Given the description of an element on the screen output the (x, y) to click on. 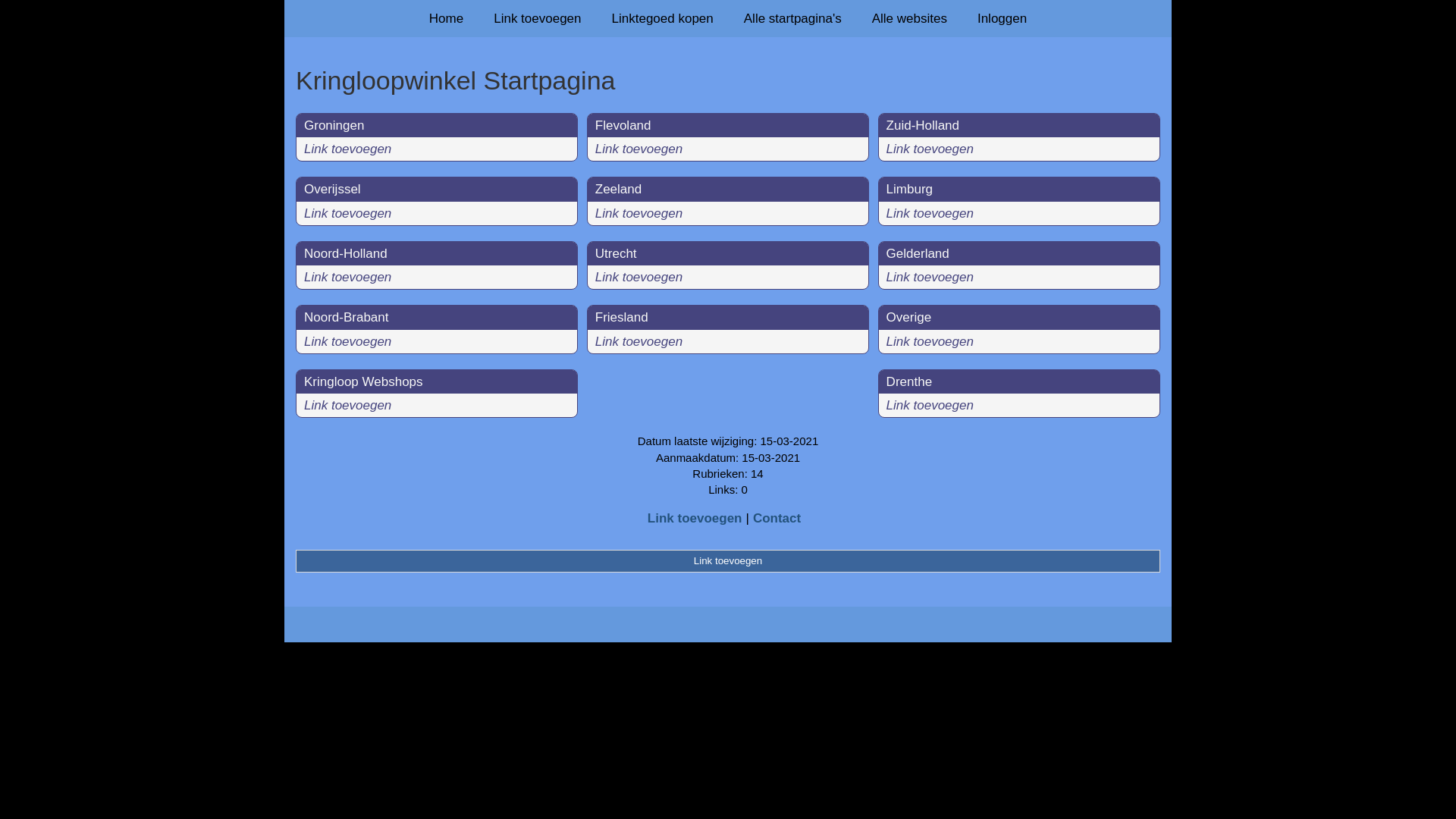
Limburg Element type: text (909, 189)
Overijssel Element type: text (332, 189)
Utrecht Element type: text (616, 253)
Link toevoegen Element type: text (638, 148)
Contact Element type: text (776, 518)
Friesland Element type: text (621, 317)
Link toevoegen Element type: text (929, 148)
Link toevoegen Element type: text (929, 276)
Kringloopwinkel Startpagina Element type: text (727, 80)
Overige Element type: text (908, 317)
Gelderland Element type: text (917, 253)
Link toevoegen Element type: text (347, 341)
Groningen Element type: text (334, 125)
Zuid-Holland Element type: text (922, 125)
Zeeland Element type: text (618, 189)
Link toevoegen Element type: text (638, 276)
Link toevoegen Element type: text (727, 560)
Link toevoegen Element type: text (638, 213)
Linktegoed kopen Element type: text (662, 18)
Link toevoegen Element type: text (694, 518)
Link toevoegen Element type: text (929, 213)
Home Element type: text (446, 18)
Alle startpagina's Element type: text (792, 18)
Kringloop Webshops Element type: text (363, 381)
Noord-Holland Element type: text (345, 253)
Alle websites Element type: text (909, 18)
Link toevoegen Element type: text (638, 341)
Flevoland Element type: text (623, 125)
Link toevoegen Element type: text (347, 276)
Link toevoegen Element type: text (347, 148)
Link toevoegen Element type: text (929, 405)
Inloggen Element type: text (1001, 18)
Noord-Brabant Element type: text (346, 317)
Link toevoegen Element type: text (347, 213)
Link toevoegen Element type: text (929, 341)
Link toevoegen Element type: text (537, 18)
Link toevoegen Element type: text (347, 405)
Drenthe Element type: text (908, 381)
